Given the description of an element on the screen output the (x, y) to click on. 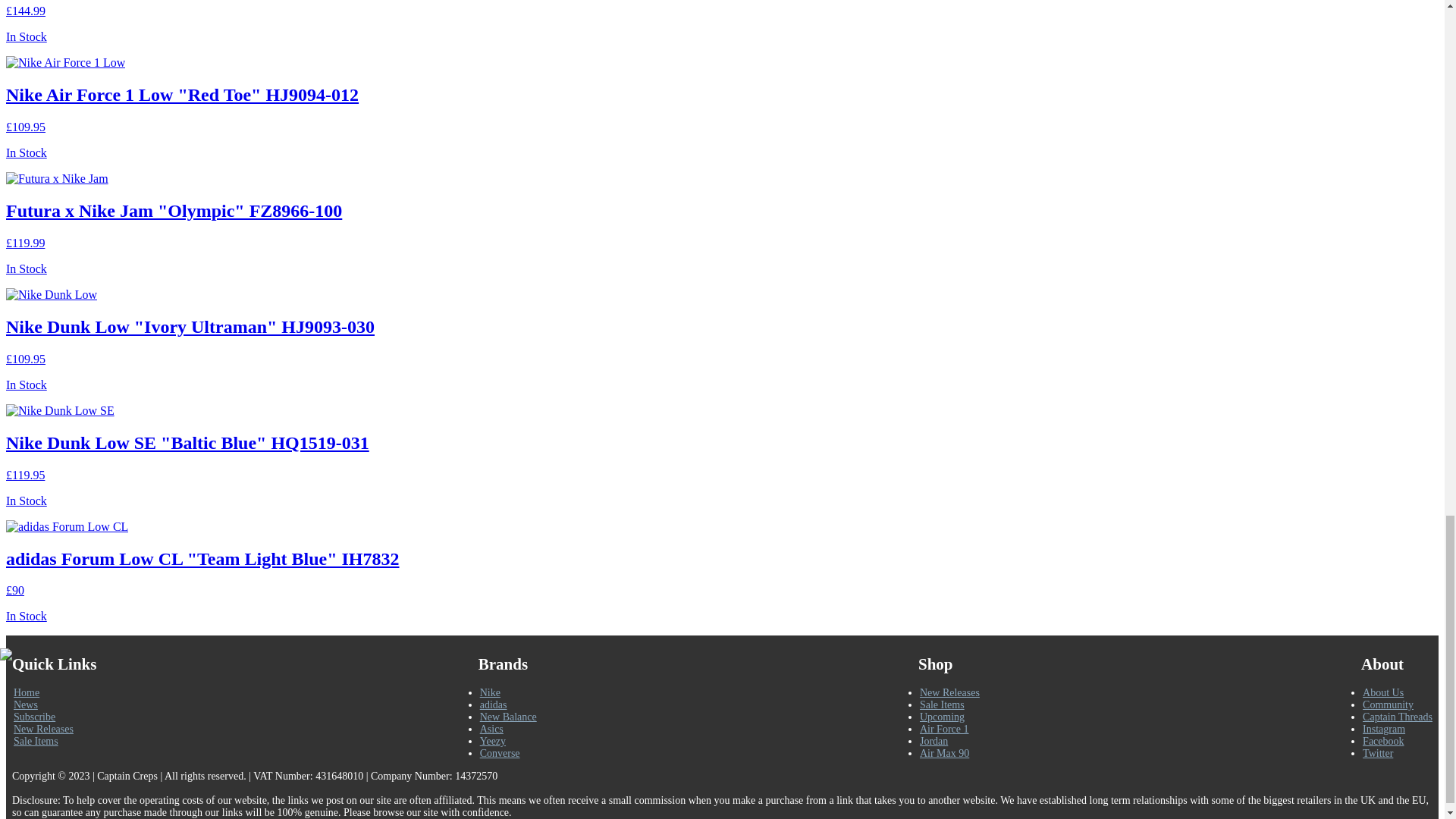
New Balance (508, 716)
Asics (491, 728)
Sale Items (35, 740)
Yeezy (492, 740)
Nike (490, 692)
News (25, 704)
Home (26, 692)
New Releases (43, 728)
Converse (499, 753)
adidas (493, 704)
Subscribe (34, 716)
